Given the description of an element on the screen output the (x, y) to click on. 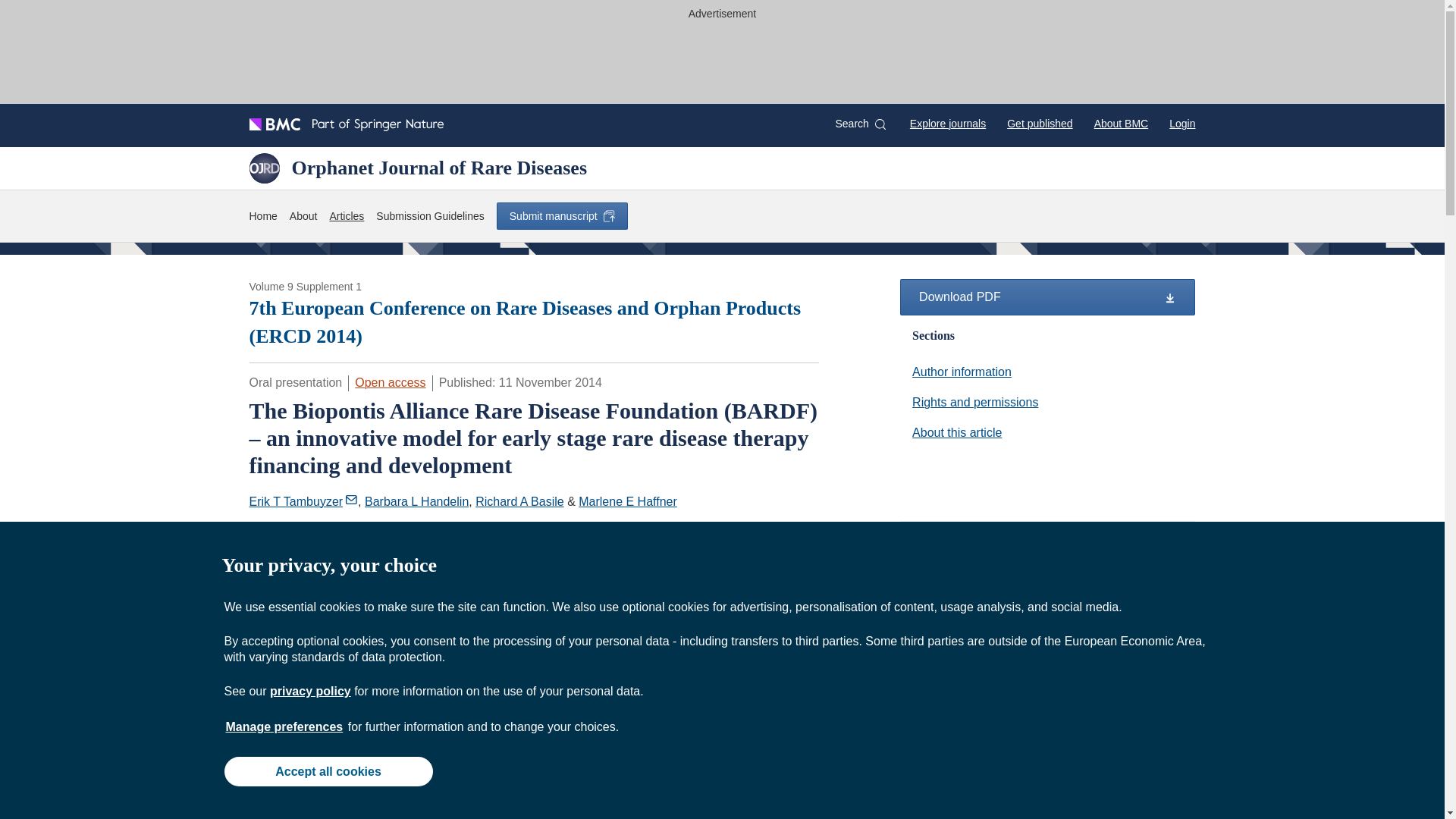
Explore journals (947, 123)
Metrics (368, 561)
Login (1182, 123)
Marlene E Haffner (627, 501)
Home (262, 216)
Accept all cookies (328, 771)
Open access (390, 382)
About (303, 216)
Barbara L Handelin (1047, 432)
